Given the description of an element on the screen output the (x, y) to click on. 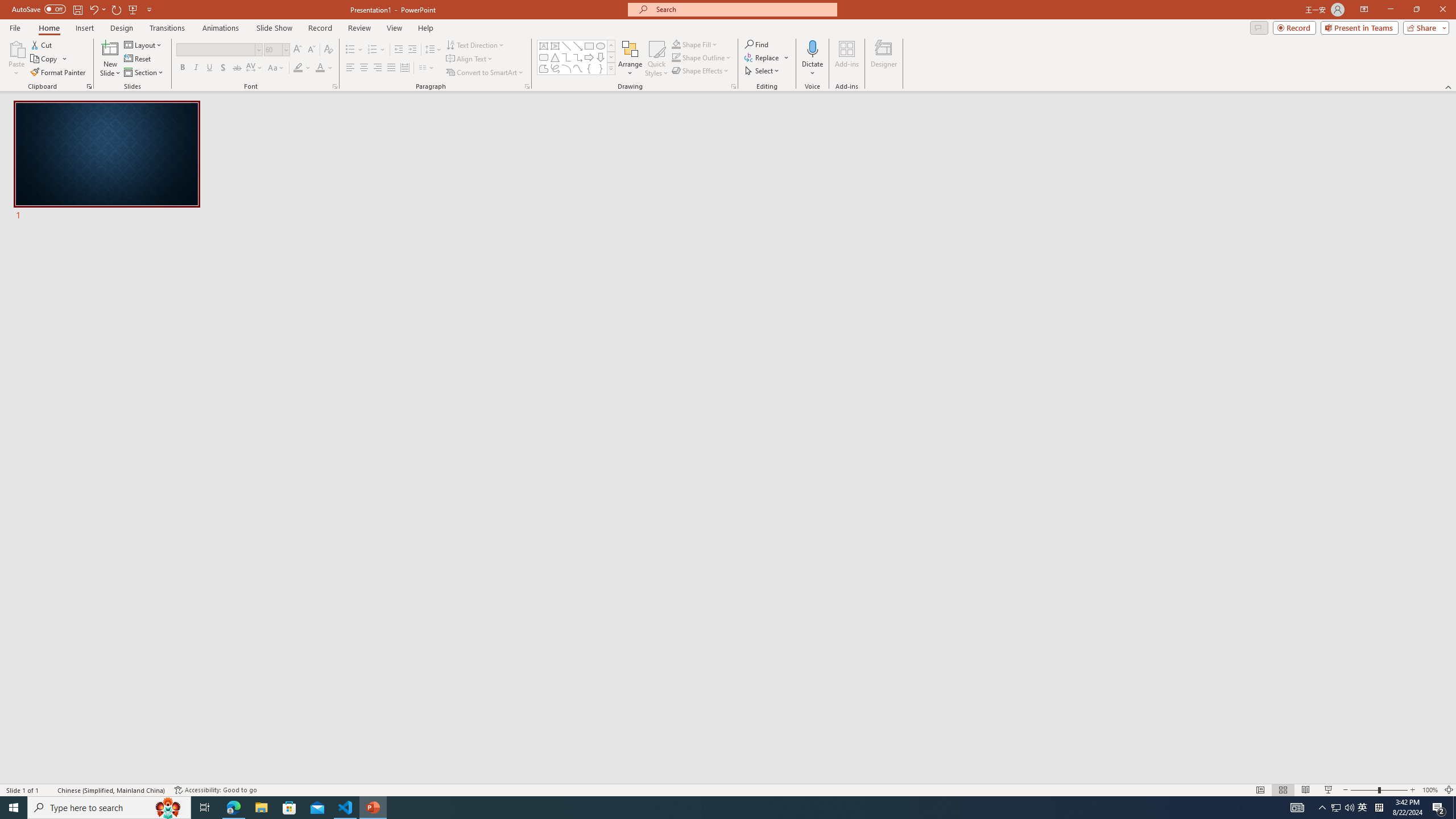
Shape Outline Blue, Accent 1 (675, 56)
